Given the description of an element on the screen output the (x, y) to click on. 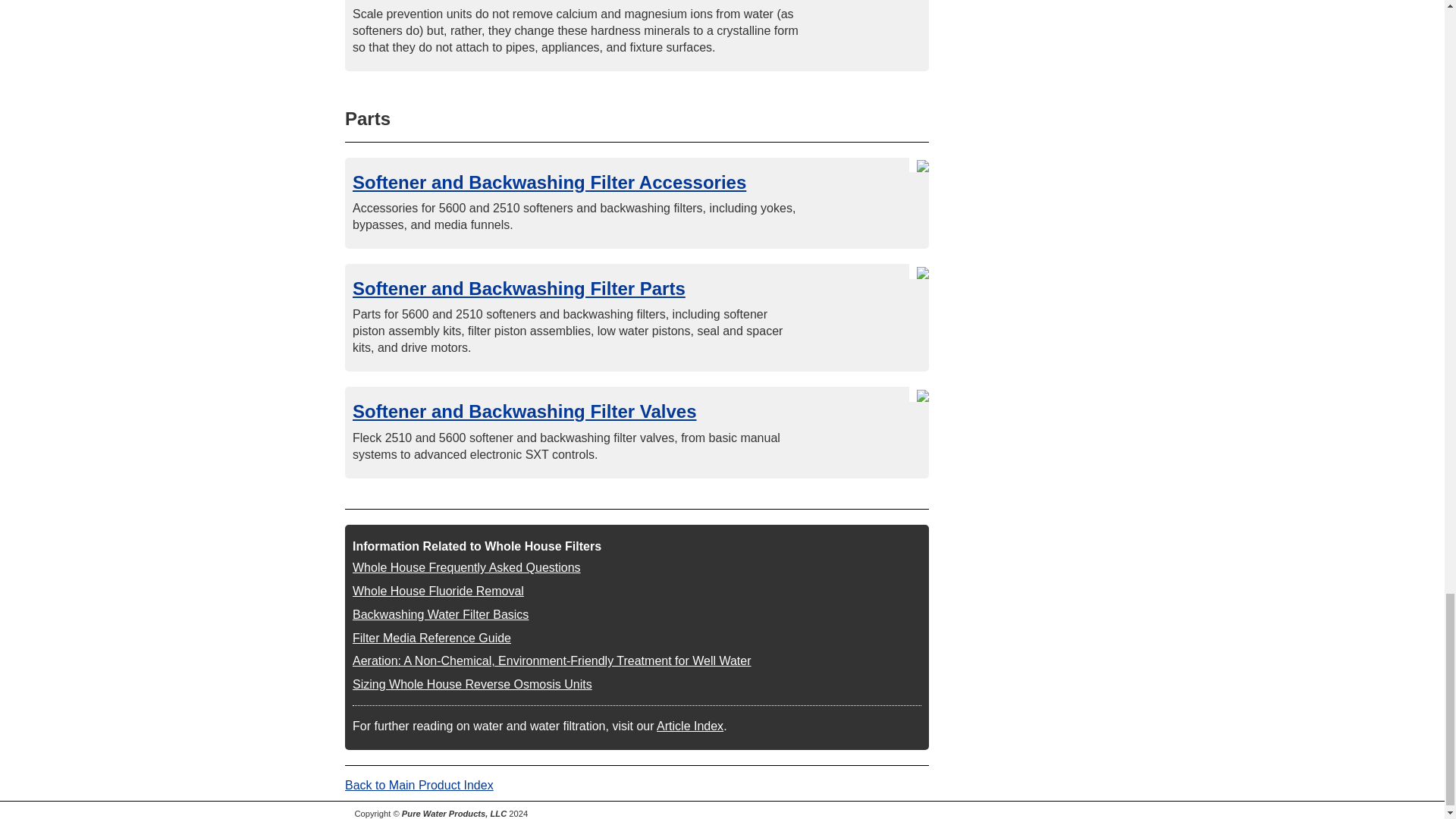
Backwashing Water Filter Basics (440, 614)
Whole House Frequently Asked Questions (466, 567)
Whole House Fluoride Removal (438, 590)
Softener and Backwashing Filter Valves (524, 411)
Softener and Backwashing Filter Accessories (548, 181)
Filter Media Reference Guide (431, 637)
Softener and Backwashing Filter Parts (518, 288)
